Given the description of an element on the screen output the (x, y) to click on. 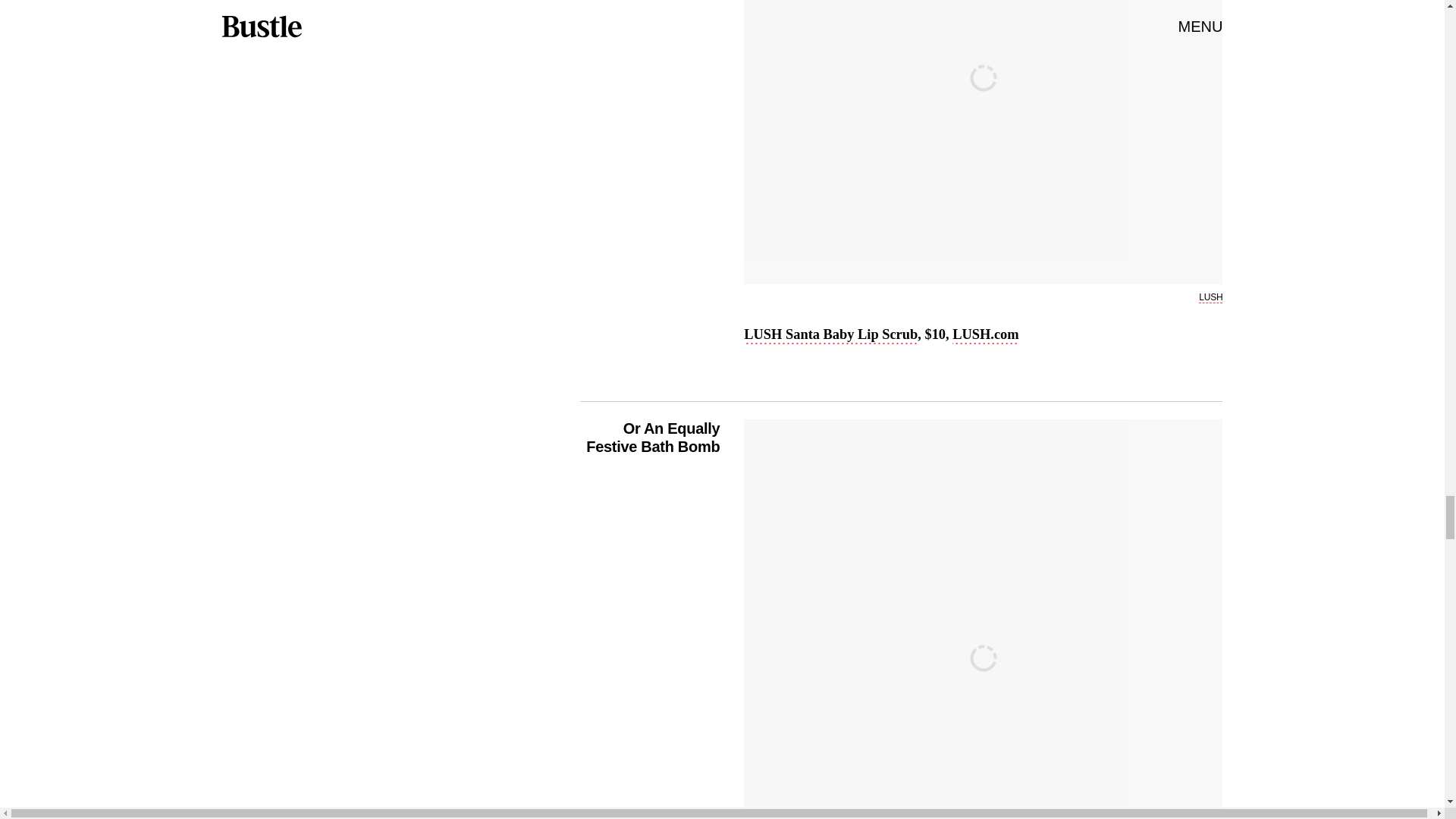
LUSH.com (984, 335)
LUSH (1210, 297)
LUSH Santa Baby Lip Scrub (830, 335)
